Given the description of an element on the screen output the (x, y) to click on. 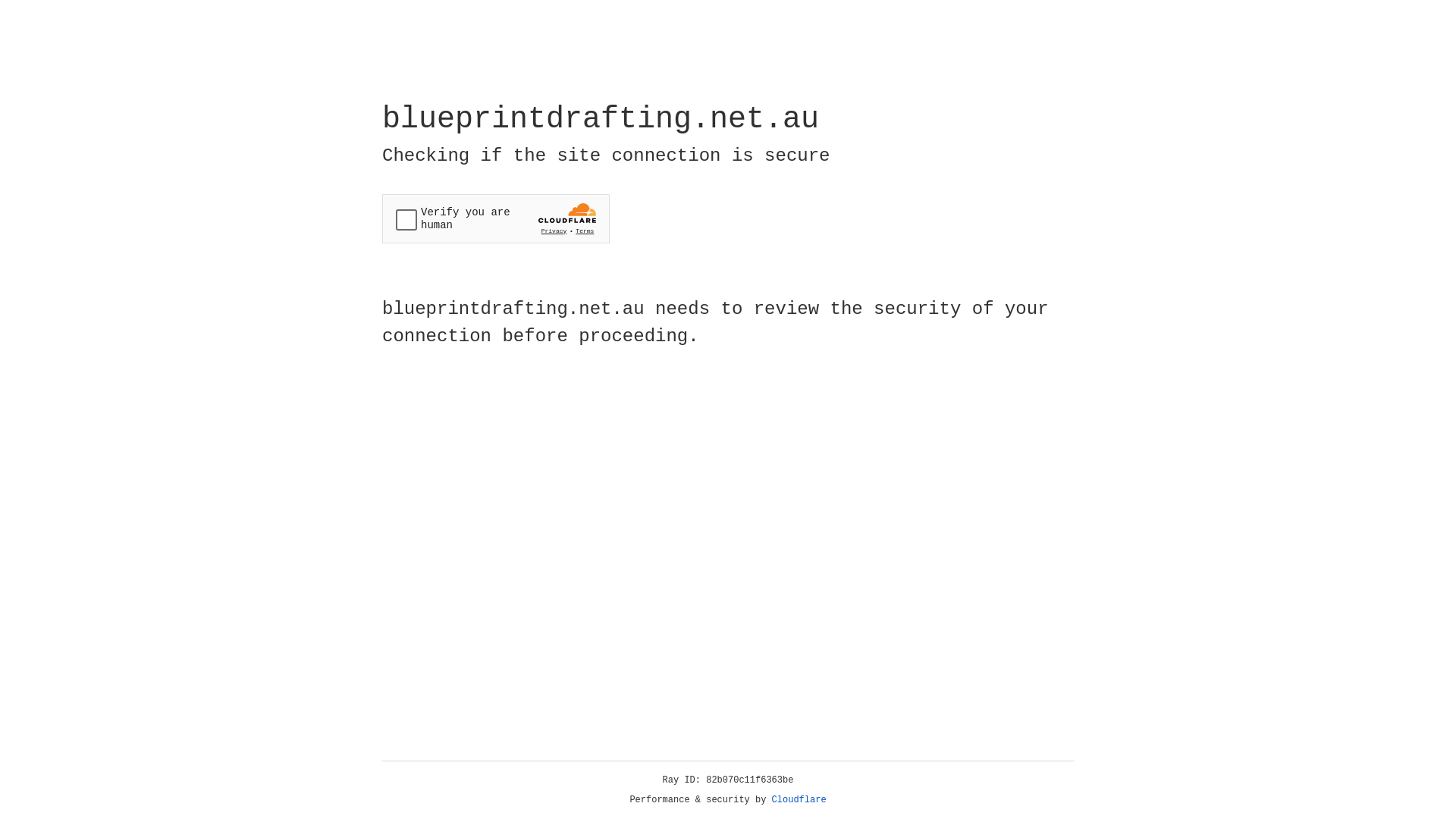
Cloudflare Element type: text (798, 799)
Widget containing a Cloudflare security challenge Element type: hover (495, 218)
